Given the description of an element on the screen output the (x, y) to click on. 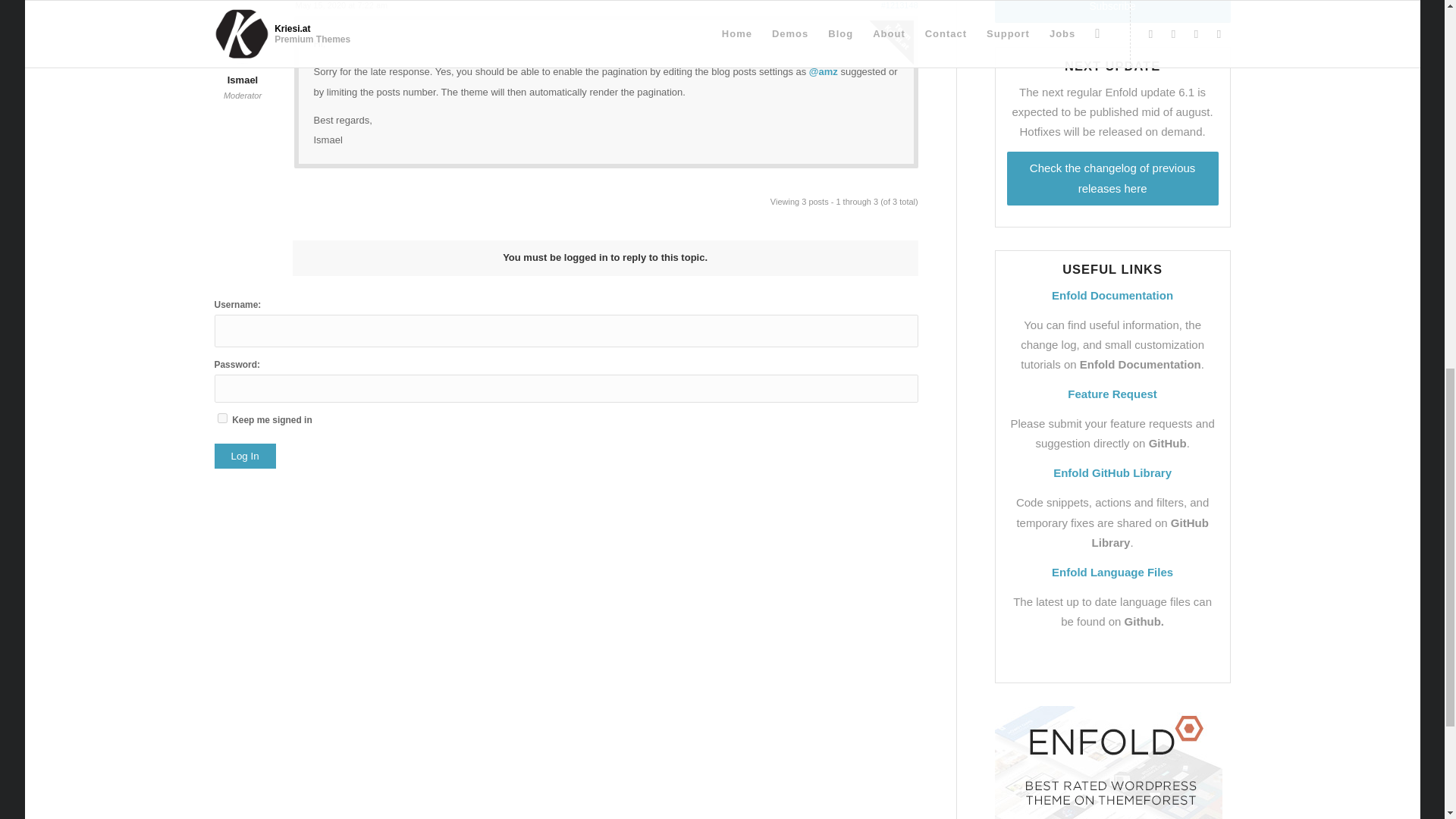
Subscribe (1112, 11)
Ismael (241, 69)
Check the changelog of previous releases here (1112, 178)
Log In (244, 455)
Subscribe (1112, 11)
forever (221, 418)
View Ismael's profile (241, 69)
Moderator (242, 95)
